Given the description of an element on the screen output the (x, y) to click on. 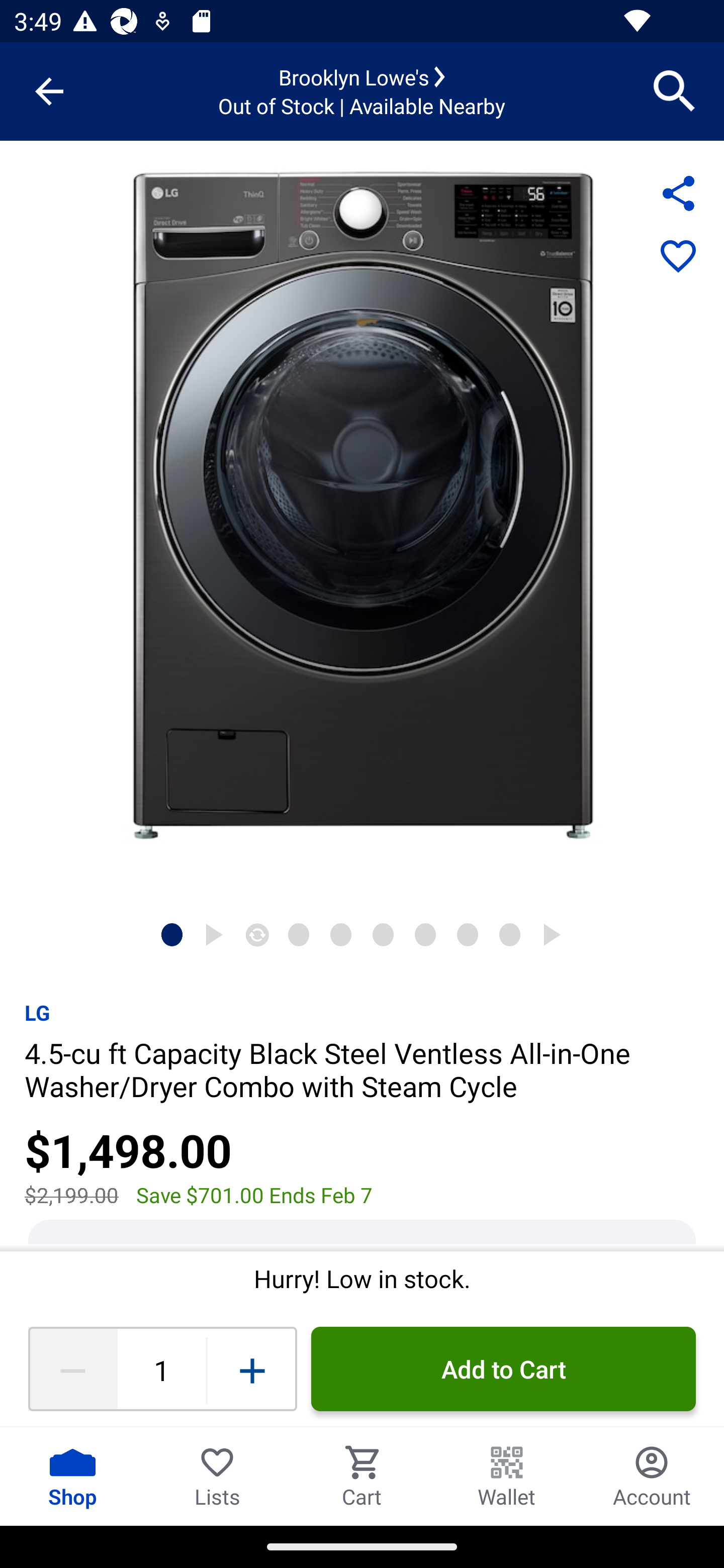
Navigate up (49, 91)
Search for products (674, 90)
Brooklyn Lowe's  Out of Stock | Available Nearby (361, 91)
Share (678, 193)
Save to List (678, 256)
Decrease quantity (72, 1368)
1 (161, 1368)
Increase quantity (251, 1368)
Add to Cart (503, 1368)
Lists (216, 1475)
Cart (361, 1475)
Wallet (506, 1475)
Account (651, 1475)
